Given the description of an element on the screen output the (x, y) to click on. 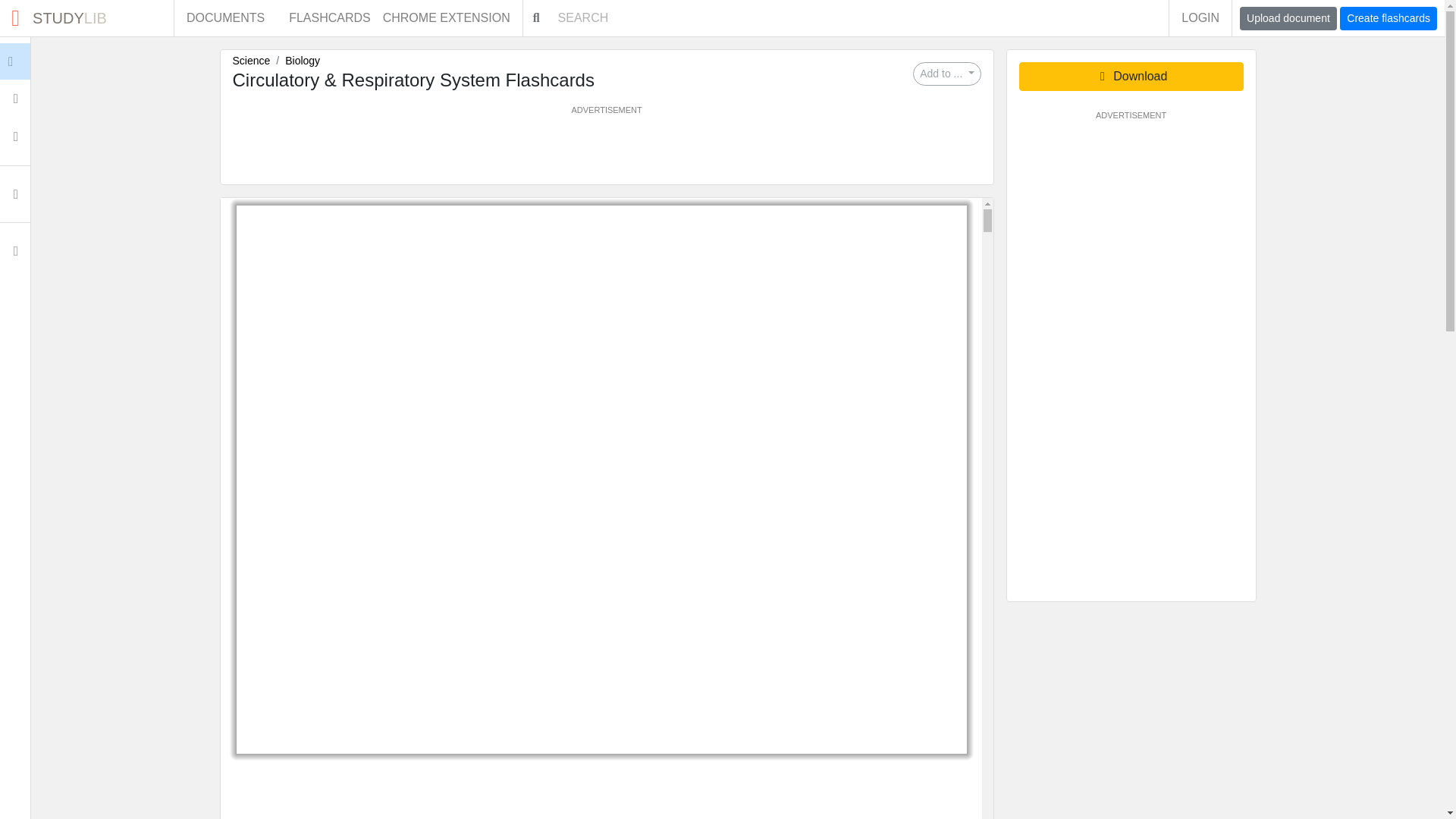
CHROME EXTENSION (452, 18)
Flashcards (15, 98)
Science (250, 60)
Add to ... (946, 73)
Create flashcards (1388, 18)
DOCUMENTS (225, 18)
Collections (86, 18)
Advertisement (15, 136)
Profile (605, 150)
FLASHCARDS (15, 250)
Biology (329, 18)
LOGIN (302, 60)
Login (1200, 18)
Advertisement (45, 61)
